Given the description of an element on the screen output the (x, y) to click on. 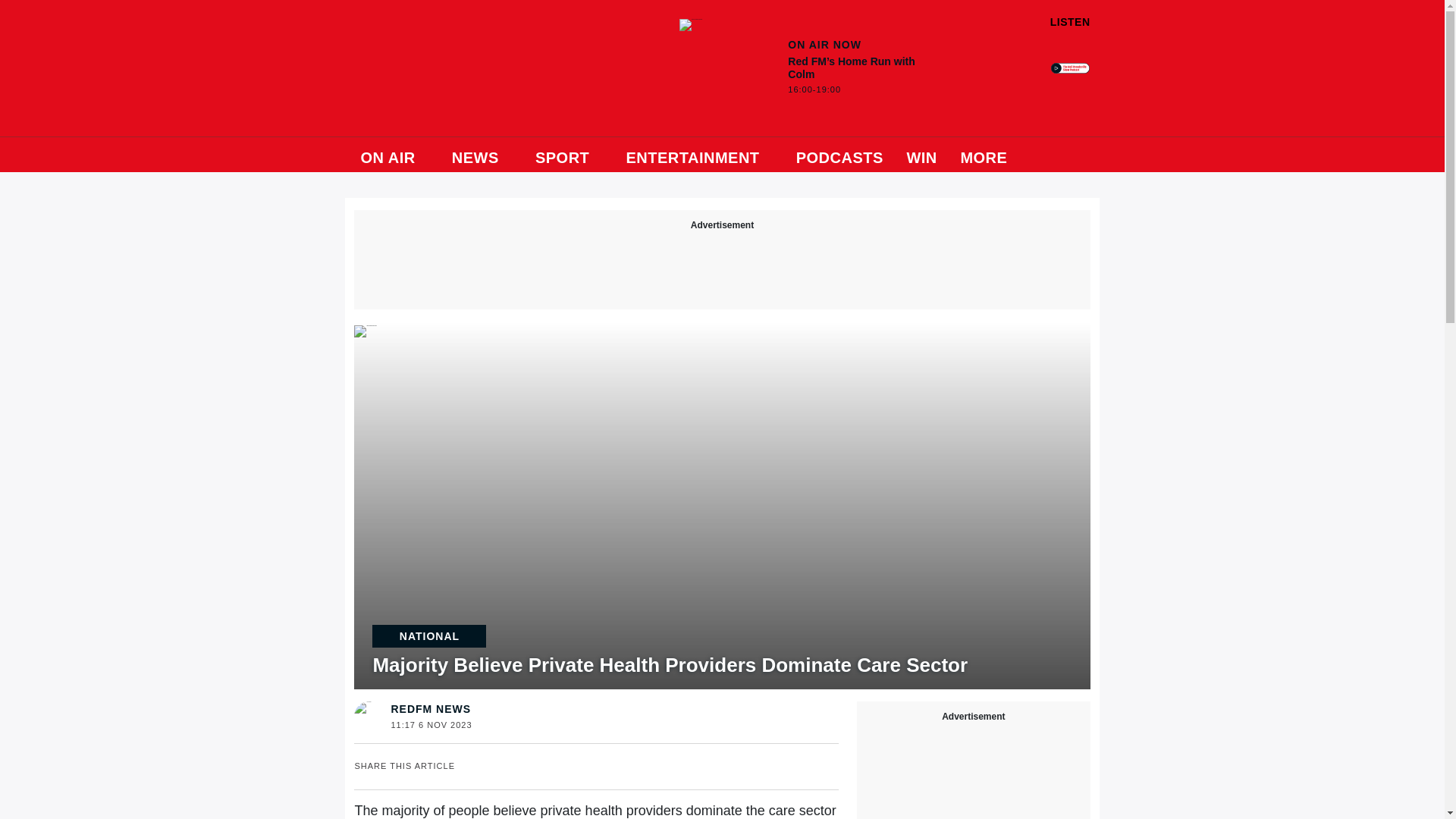
WIN (920, 154)
SPORT (568, 154)
ON AIR (393, 154)
Win (920, 154)
NEWS (481, 154)
MORE (989, 154)
PODCASTS (839, 154)
Podcasts (839, 154)
ENTERTAINMENT (699, 154)
